Given the description of an element on the screen output the (x, y) to click on. 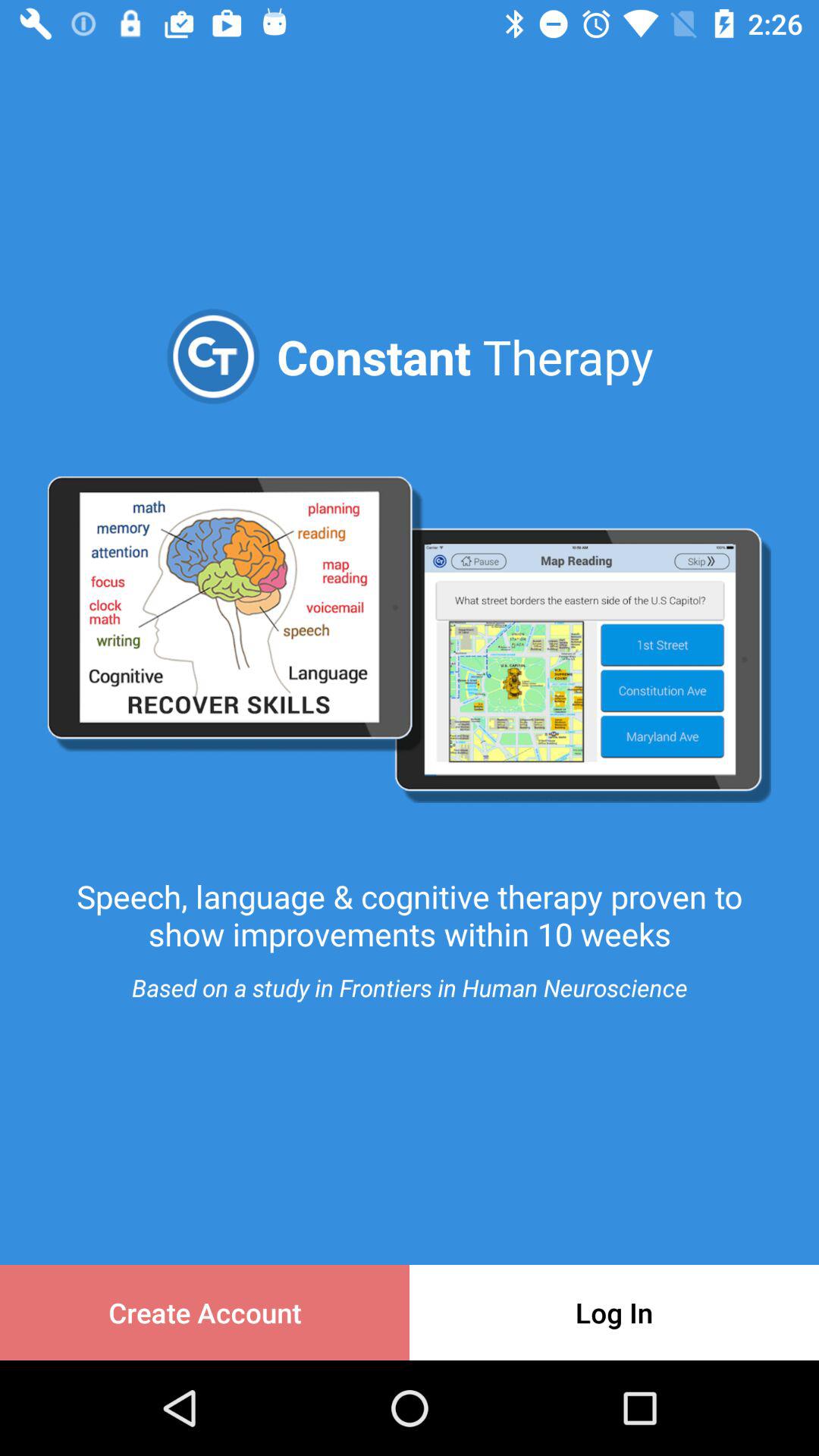
choose log in at the bottom right corner (614, 1312)
